Given the description of an element on the screen output the (x, y) to click on. 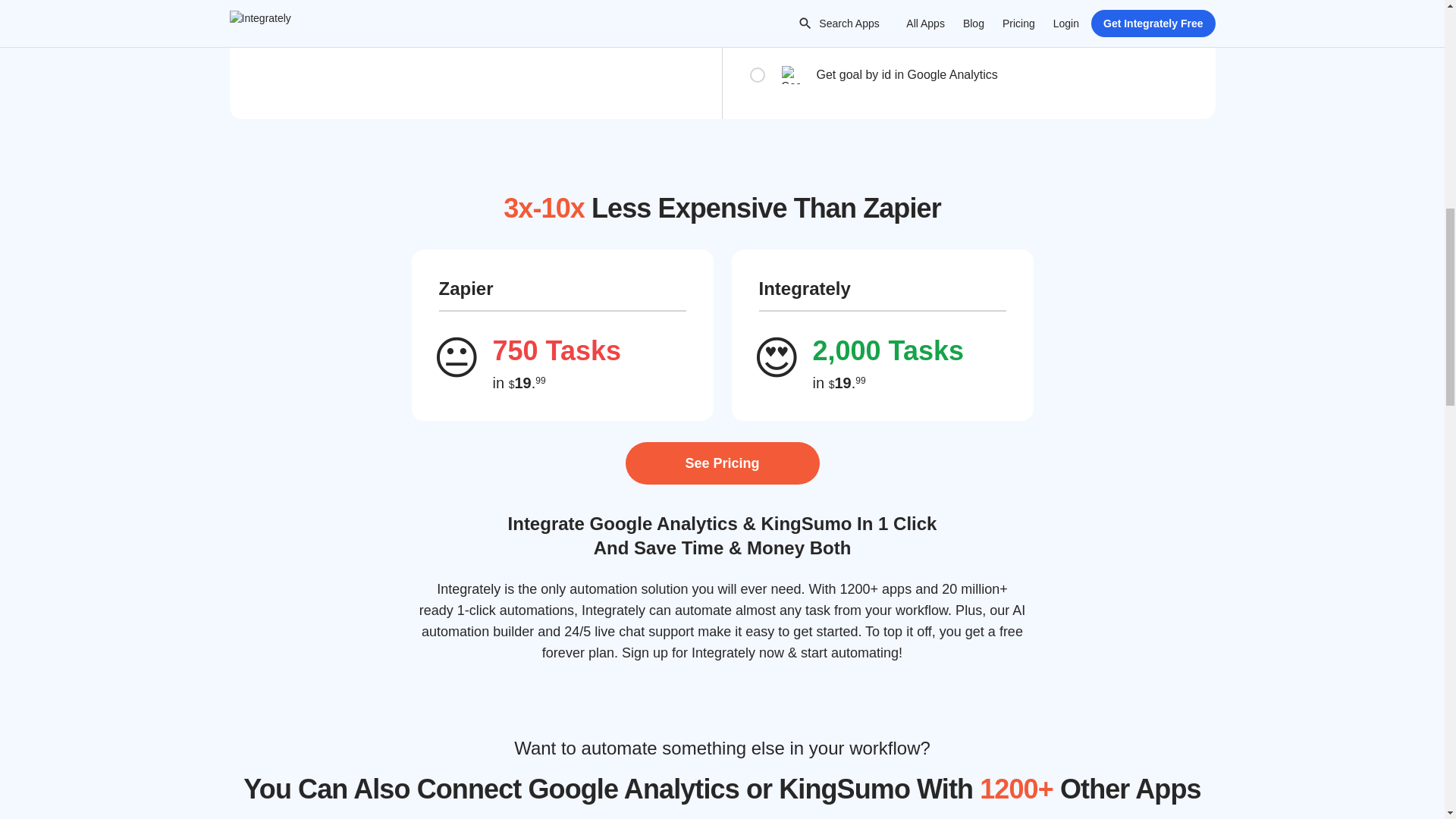
See Pricing (721, 463)
